Given the description of an element on the screen output the (x, y) to click on. 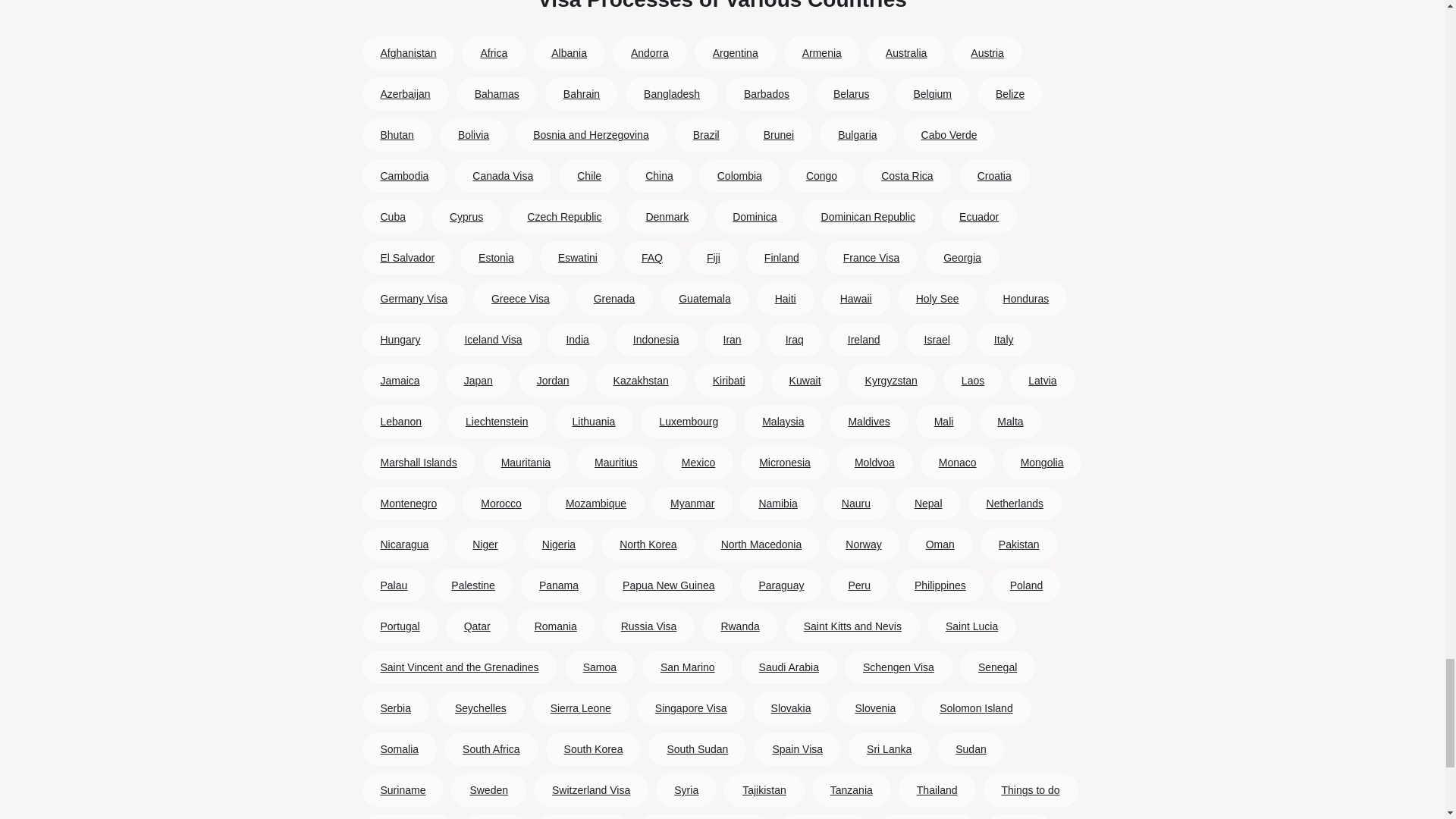
Bahrain (581, 93)
Bangladesh (671, 93)
Armenia (821, 52)
Andorra (649, 52)
Austria (987, 52)
Bahamas (496, 93)
Albania (568, 52)
Africa (493, 52)
Azerbaijan (405, 93)
Australia (905, 52)
